Given the description of an element on the screen output the (x, y) to click on. 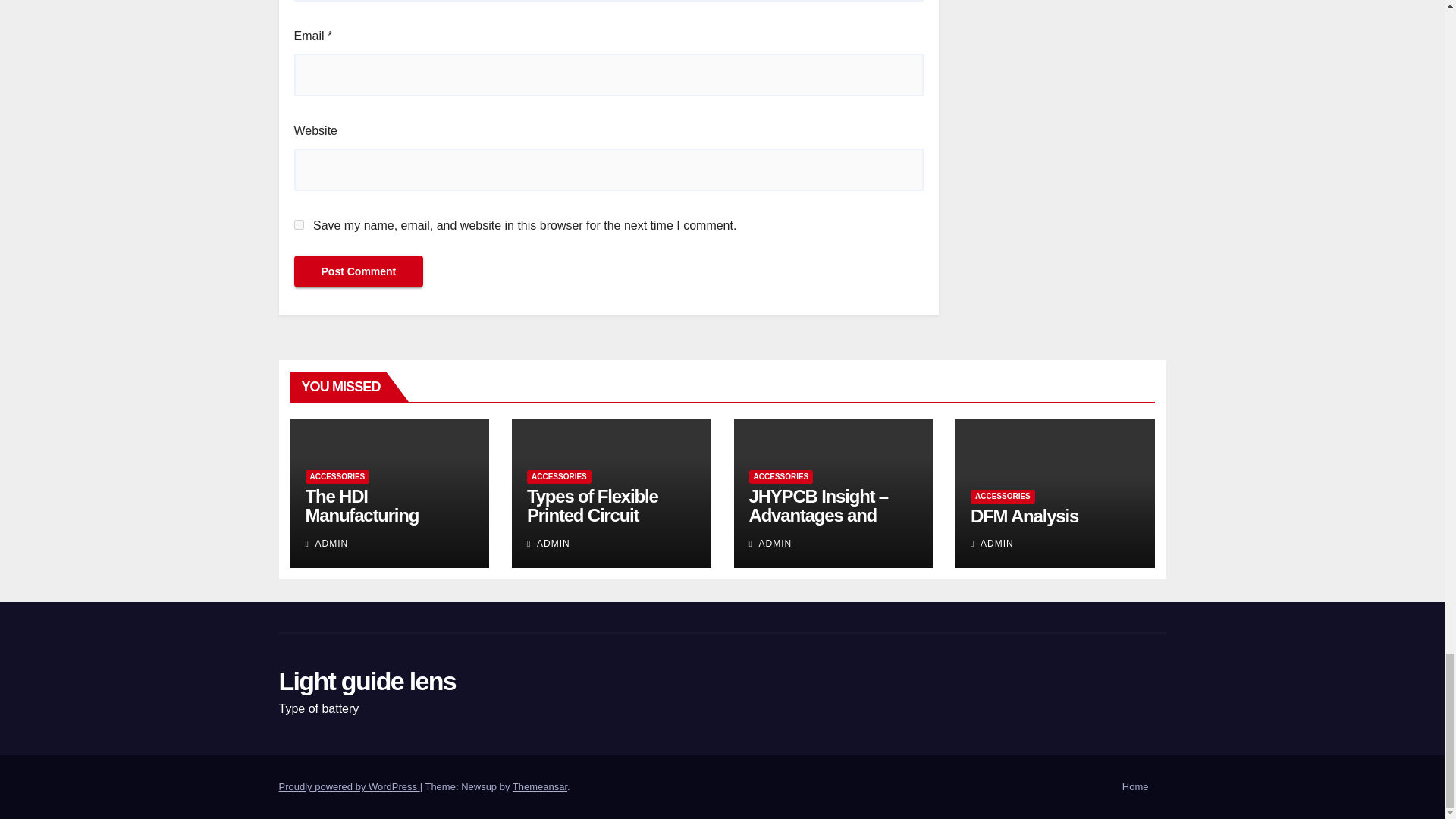
Post Comment (358, 271)
Post Comment (358, 271)
Permalink to: The HDI Manufacturing Process (361, 515)
yes (299, 225)
